Given the description of an element on the screen output the (x, y) to click on. 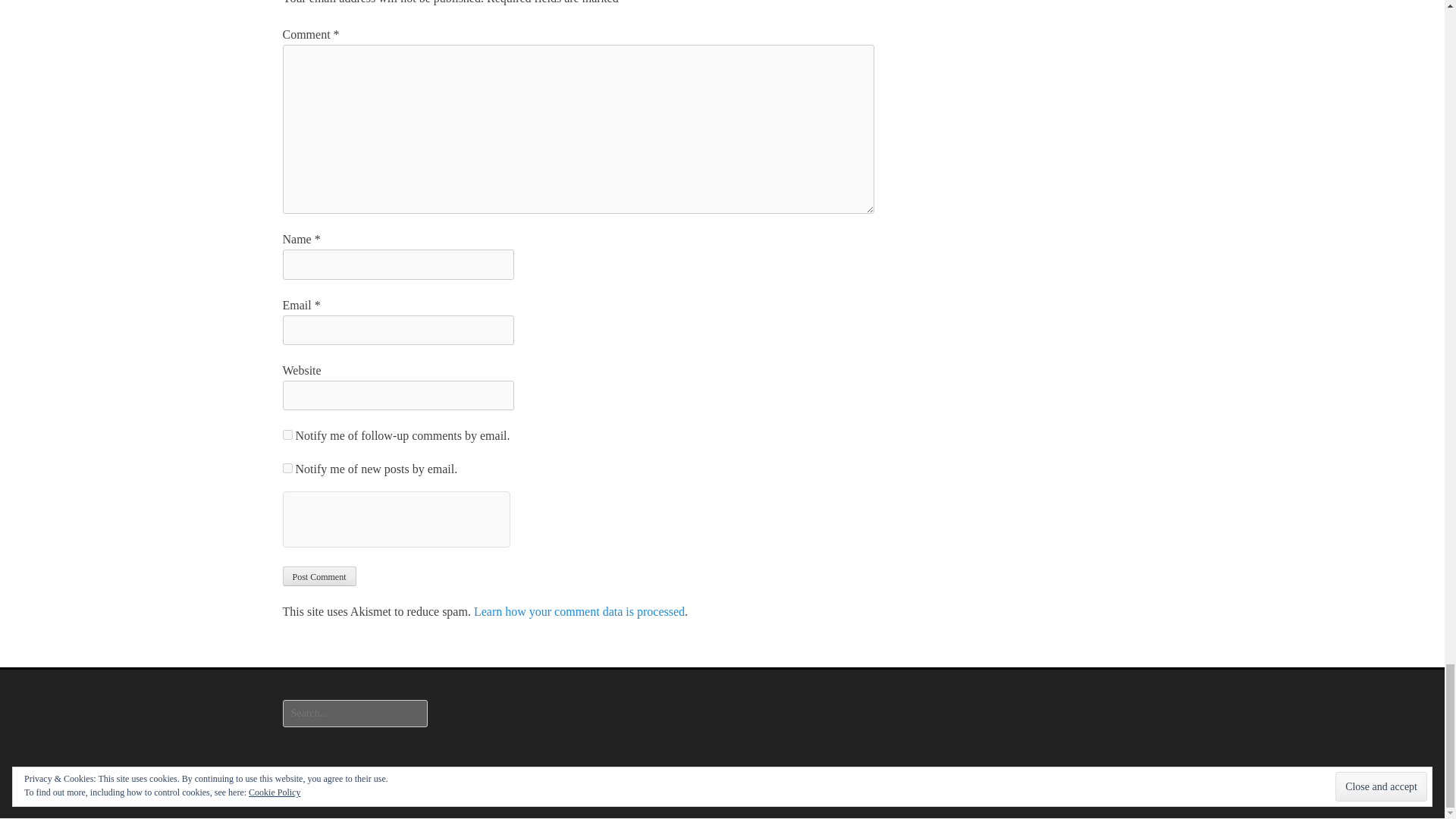
subscribe (287, 468)
Post Comment (318, 576)
Search for: (354, 713)
subscribe (287, 434)
